Given the description of an element on the screen output the (x, y) to click on. 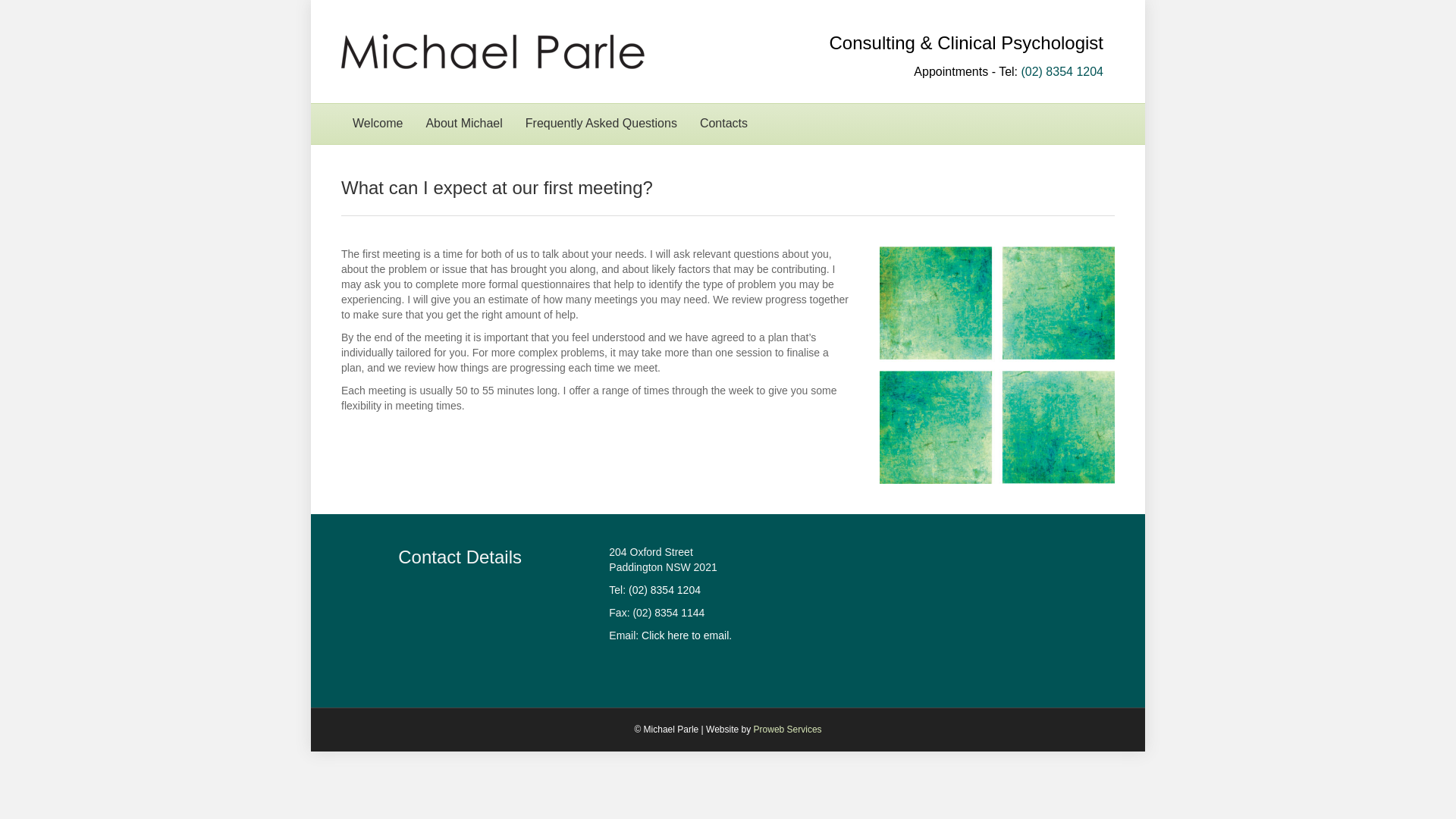
About Michael Element type: text (463, 123)
(02) 8354 1204 Element type: text (664, 589)
Click here to email Element type: text (684, 635)
(02) 8354 1204 Element type: text (1061, 71)
Welcome Element type: text (377, 123)
Proweb Services Element type: text (787, 729)
Frequently Asked Questions Element type: text (601, 123)
Michael Parle - Consulting & Clinical Psychologist Element type: hover (996, 364)
Contacts Element type: text (723, 123)
